Given the description of an element on the screen output the (x, y) to click on. 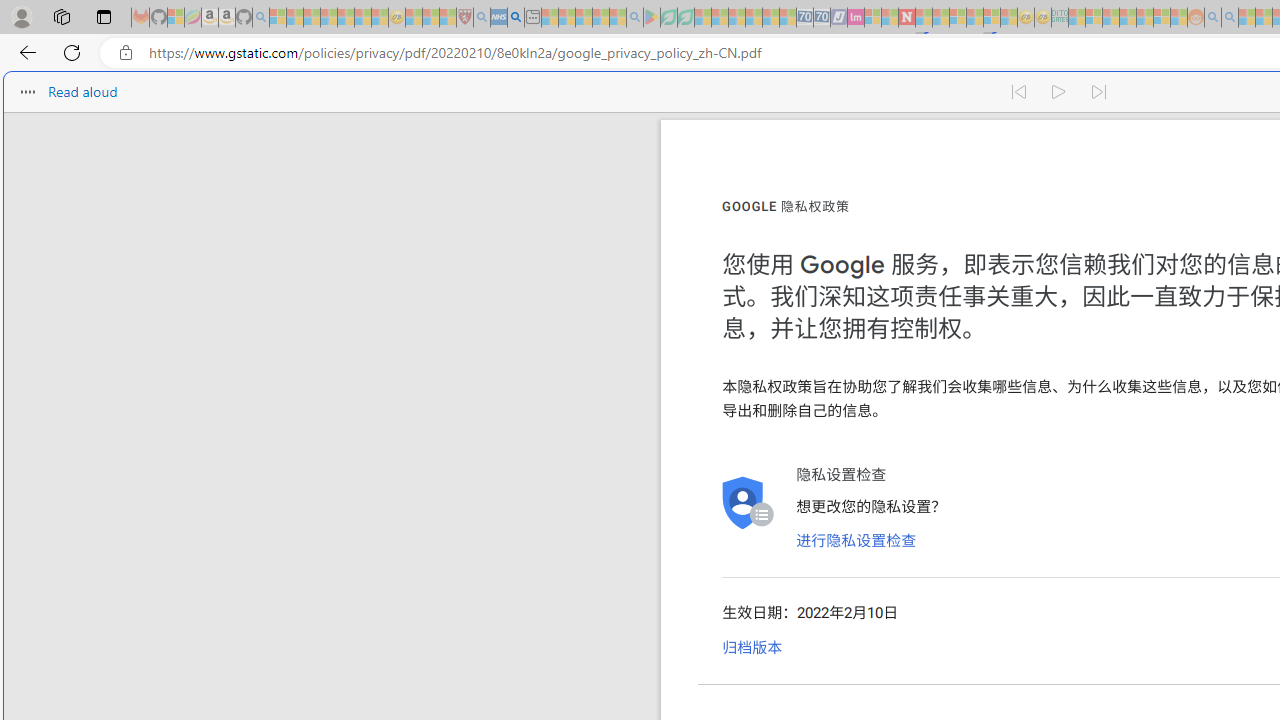
Continue to read aloud (Ctrl+Shift+U) (1059, 92)
Microsoft account | Privacy - Sleeping (1093, 17)
